Given the description of an element on the screen output the (x, y) to click on. 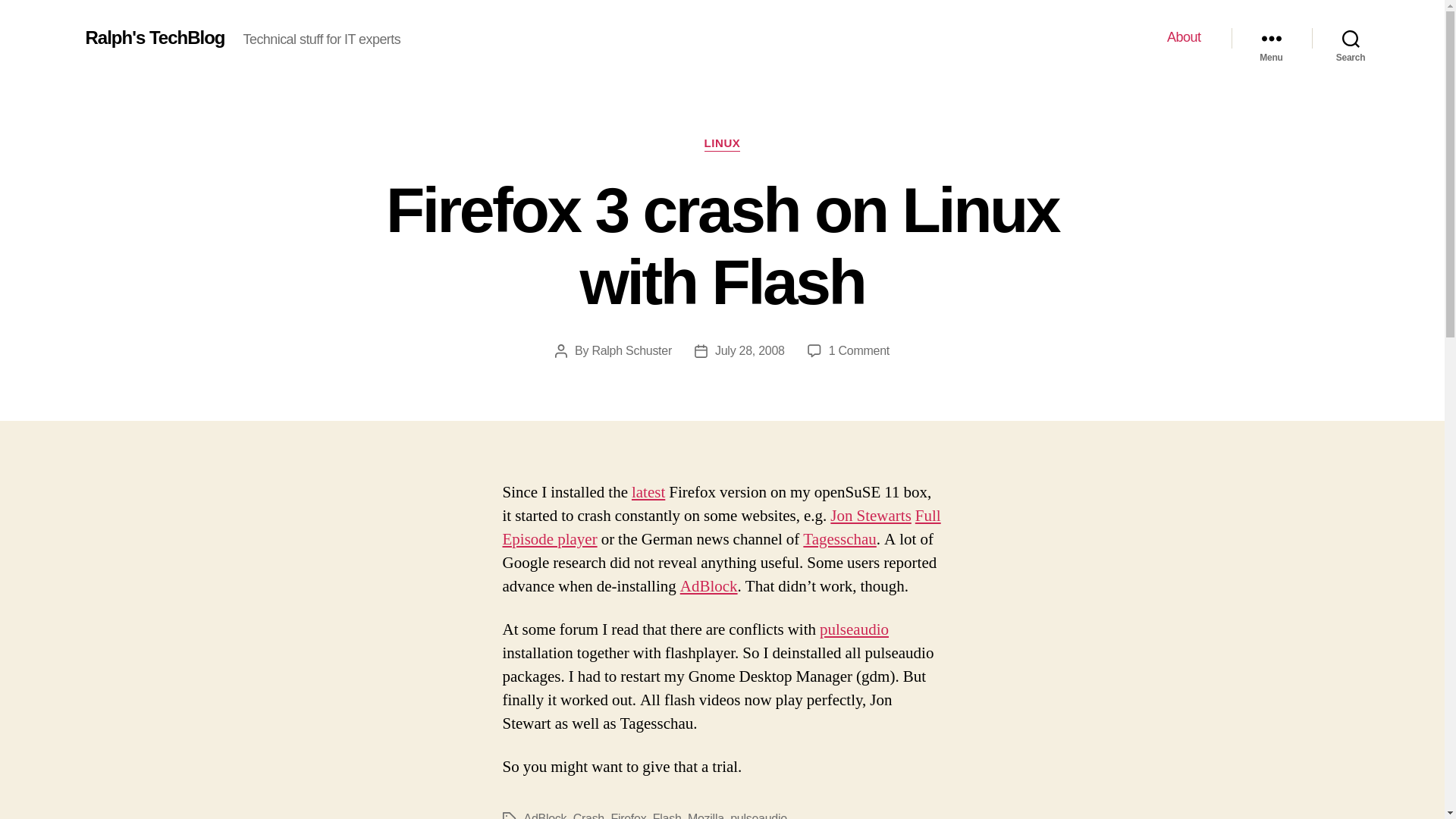
Jon Stewarts (870, 516)
Tagesschau (839, 539)
Mozilla (705, 815)
Menu (1271, 37)
Ralph Schuster (631, 350)
Firefox 3 (648, 492)
PulseAudio (853, 629)
Full Episode Player (721, 527)
Tagesschau (839, 539)
Flash (666, 815)
Crash (588, 815)
Firefox (628, 815)
pulseaudio (758, 815)
About (1184, 37)
